Given the description of an element on the screen output the (x, y) to click on. 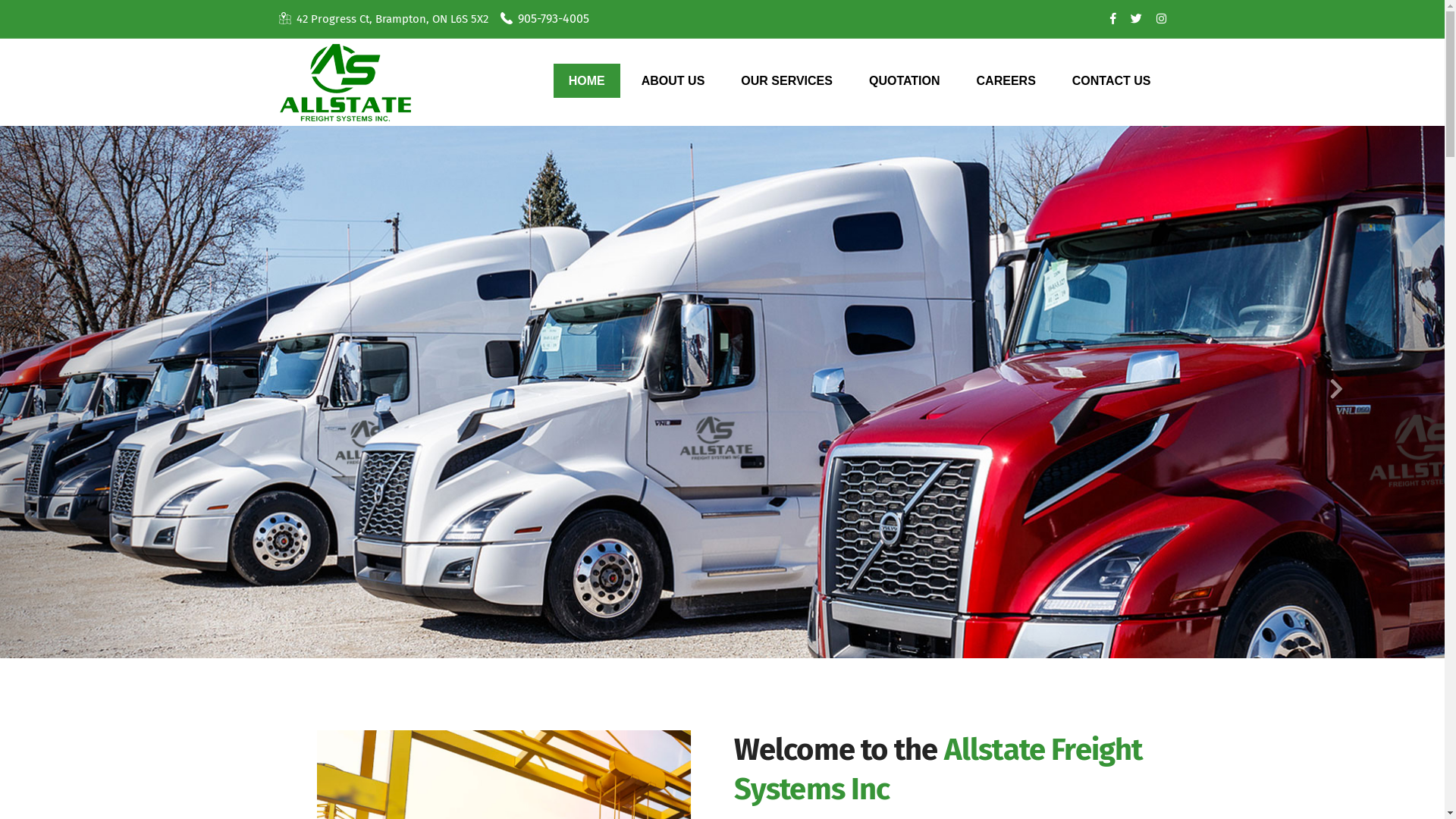
Next Element type: text (1335, 391)
CONTACT US Element type: text (1111, 80)
Previous Element type: text (108, 391)
HOME Element type: text (586, 80)
OUR SERVICES Element type: text (786, 80)
ABOUT US Element type: text (673, 80)
905-793-4005 Element type: text (552, 18)
CAREERS Element type: text (1006, 80)
QUOTATION Element type: text (904, 80)
